Given the description of an element on the screen output the (x, y) to click on. 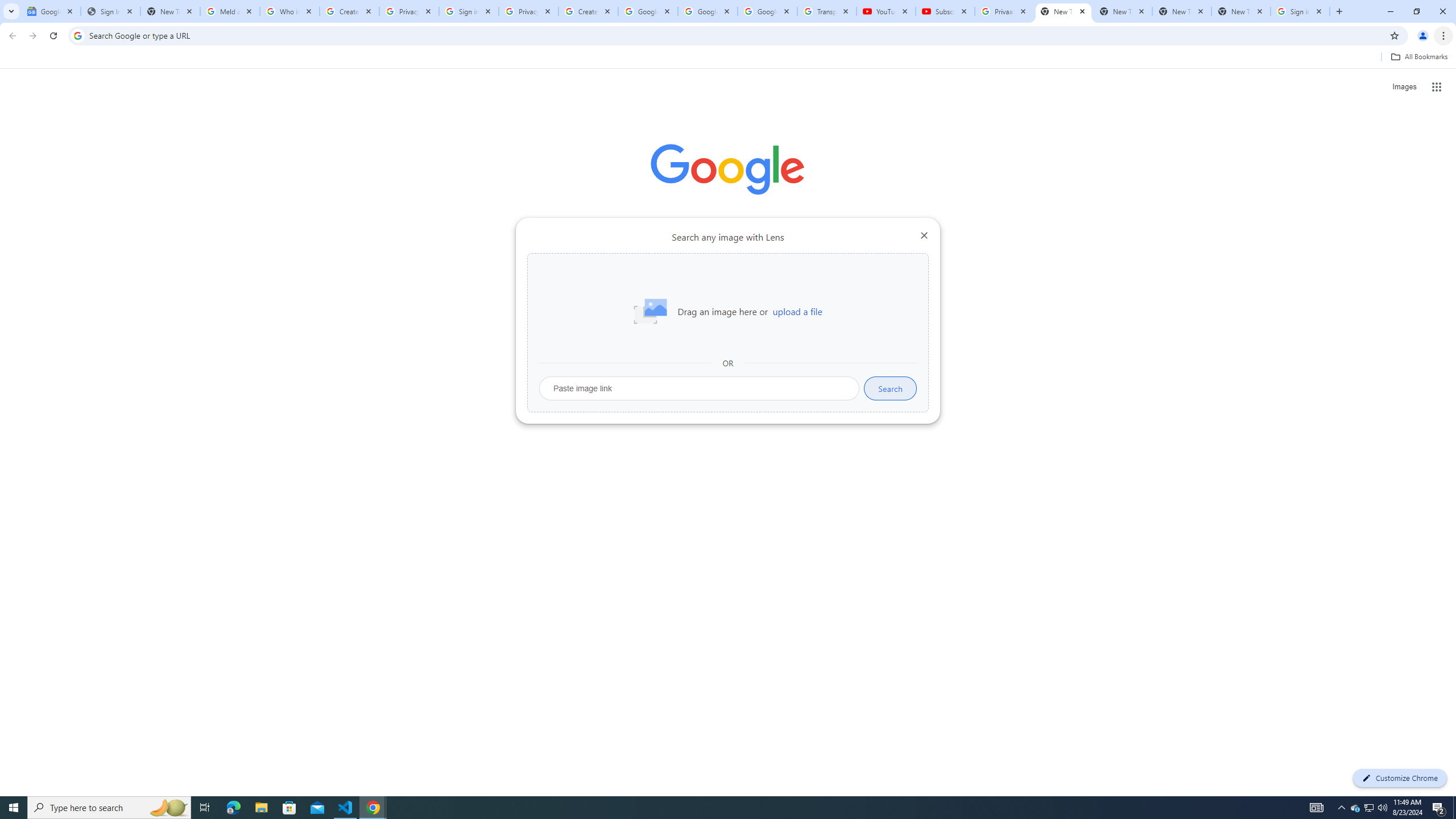
Bookmarks (728, 58)
upload a file (796, 311)
More actions for Chrome Web Store shortcut (686, 265)
Create your Google Account (349, 11)
Sign in - Google Accounts (1300, 11)
New Tab (1241, 11)
Google Account (767, 11)
